Given the description of an element on the screen output the (x, y) to click on. 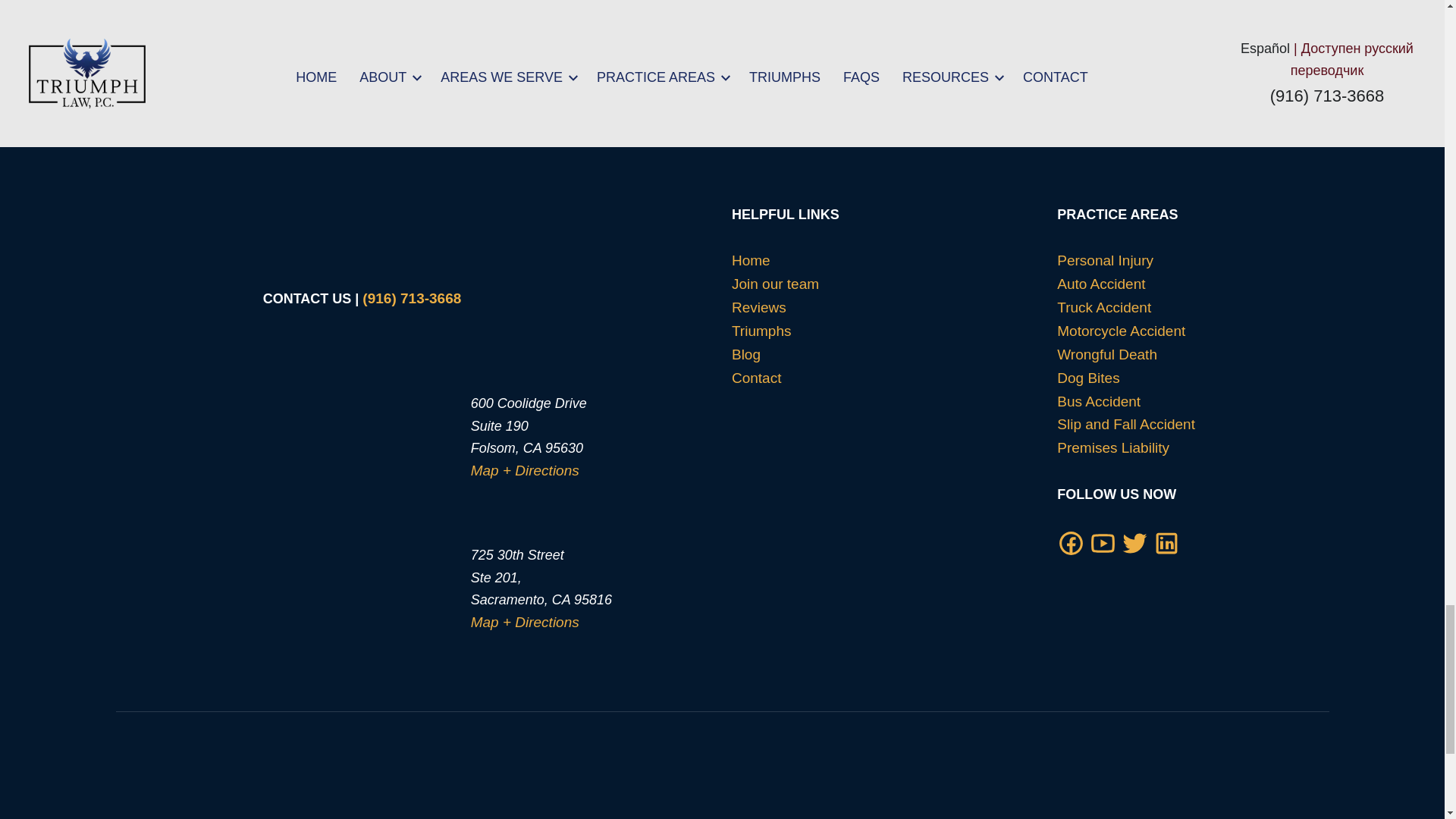
BBB Seal Award (699, 796)
Triumph Law, P.C (378, 140)
Triumph Law, P.C. (1132, 791)
Triumph Law, P.C. in Sacramento (351, 597)
Triumph Law, P.C. in Folsom (351, 422)
